Given the description of an element on the screen output the (x, y) to click on. 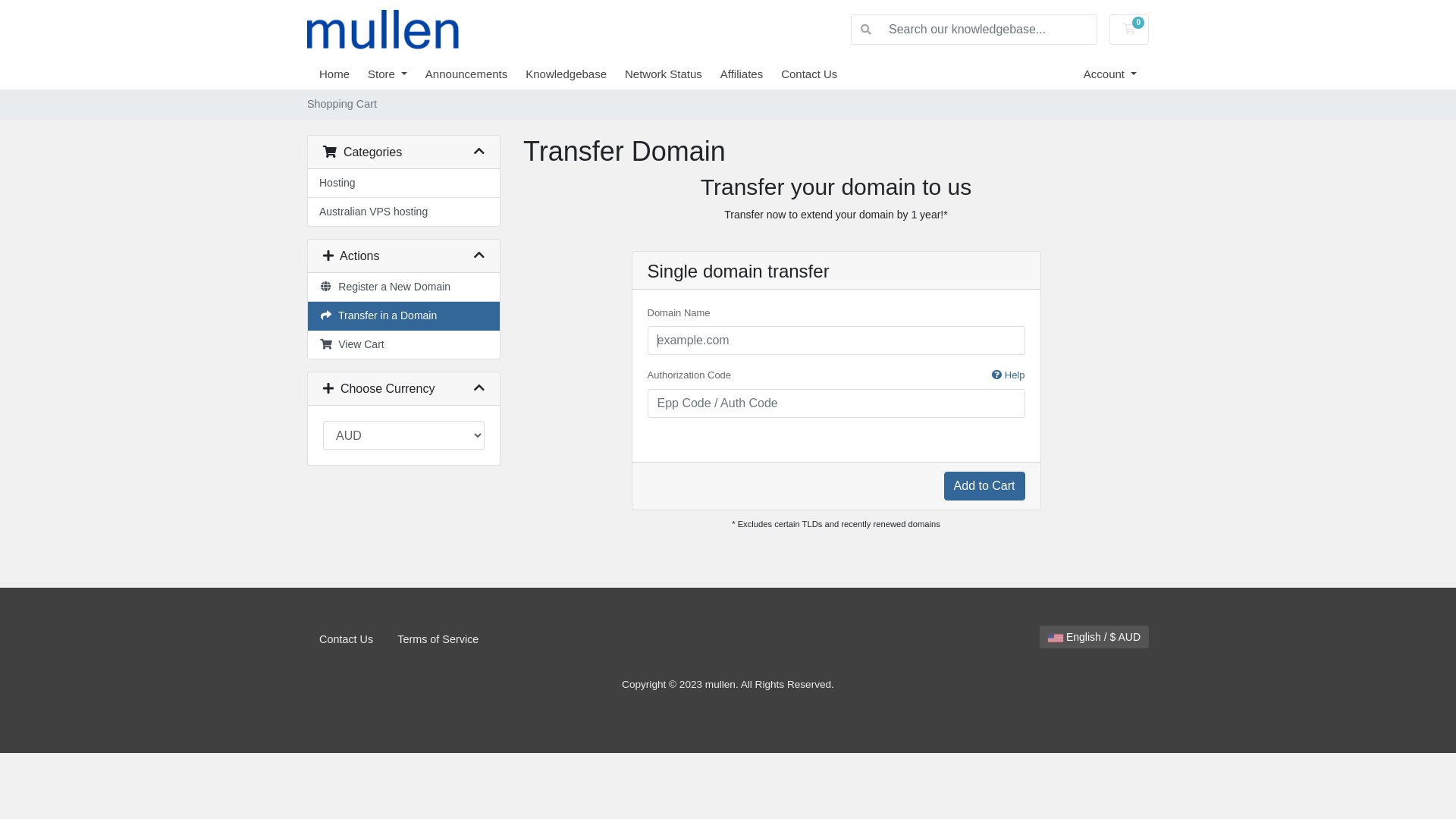
Please enter your domain Element type: hover (836, 340)
0
Shopping Cart Element type: text (1128, 29)
Home Element type: text (343, 73)
Australian VPS hosting Element type: text (403, 211)
Hosting Element type: text (403, 183)
Knowledgebase Element type: text (574, 73)
Store Element type: text (396, 73)
Terms of Service Element type: text (437, 639)
Account Element type: text (1109, 73)
Contact Us Element type: text (818, 73)
English / $ AUD Element type: text (1093, 636)
  Register a New Domain Element type: text (403, 287)
  View Cart Element type: text (403, 344)
Network Status Element type: text (672, 73)
Help Element type: text (1007, 374)
Announcements Element type: text (475, 73)
Affiliates Element type: text (750, 73)
  Transfer in a Domain Element type: text (403, 315)
Contact Us Element type: text (346, 639)
Required Element type: hover (836, 403)
Add to Cart Element type: text (984, 485)
